Given the description of an element on the screen output the (x, y) to click on. 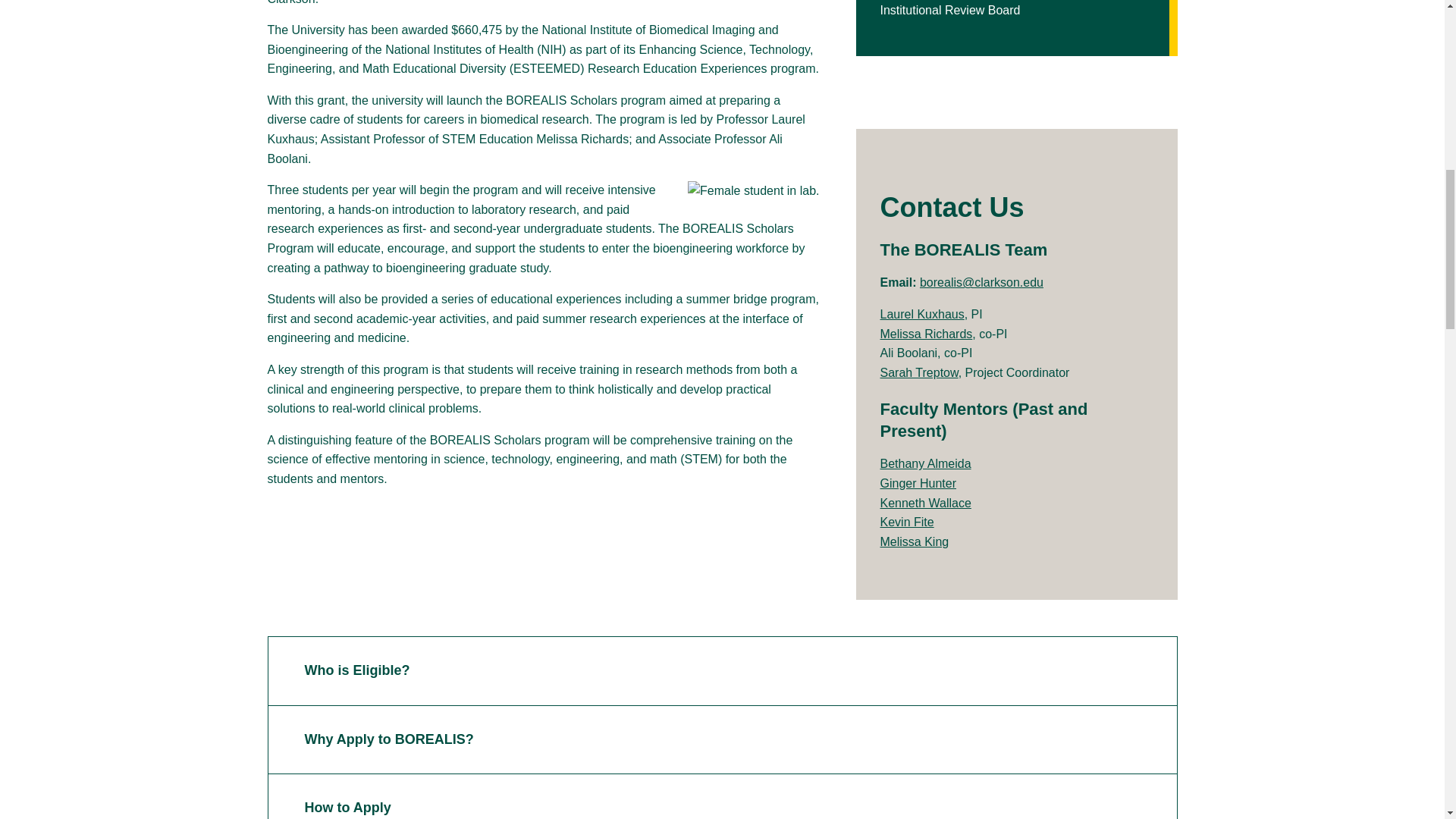
ghunter (917, 482)
kwallace (925, 502)
richarmc (925, 333)
balmeida (925, 463)
kfite (906, 521)
lkuxhaus (921, 314)
streptow (918, 372)
